Given the description of an element on the screen output the (x, y) to click on. 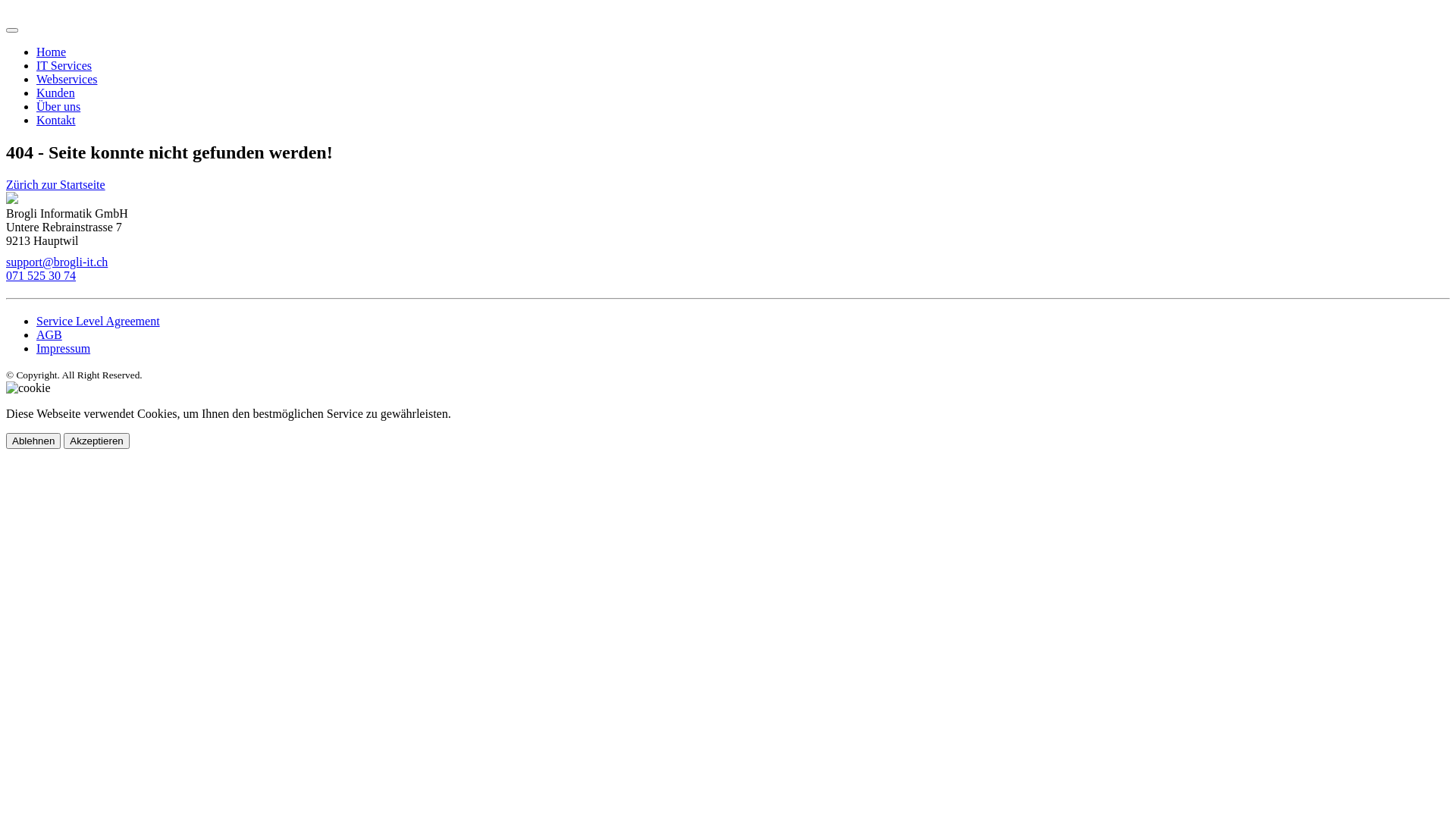
Home Element type: text (50, 51)
Akzeptieren Element type: text (95, 440)
Kontakt Element type: text (55, 119)
IT Services Element type: text (63, 65)
support@brogli-it.ch Element type: text (56, 261)
Service Level Agreement Element type: text (98, 320)
Impressum Element type: text (63, 348)
Webservices Element type: text (66, 78)
Ablehnen Element type: text (33, 440)
Kunden Element type: text (55, 92)
AGB Element type: text (49, 334)
071 525 30 74 Element type: text (40, 275)
